Given the description of an element on the screen output the (x, y) to click on. 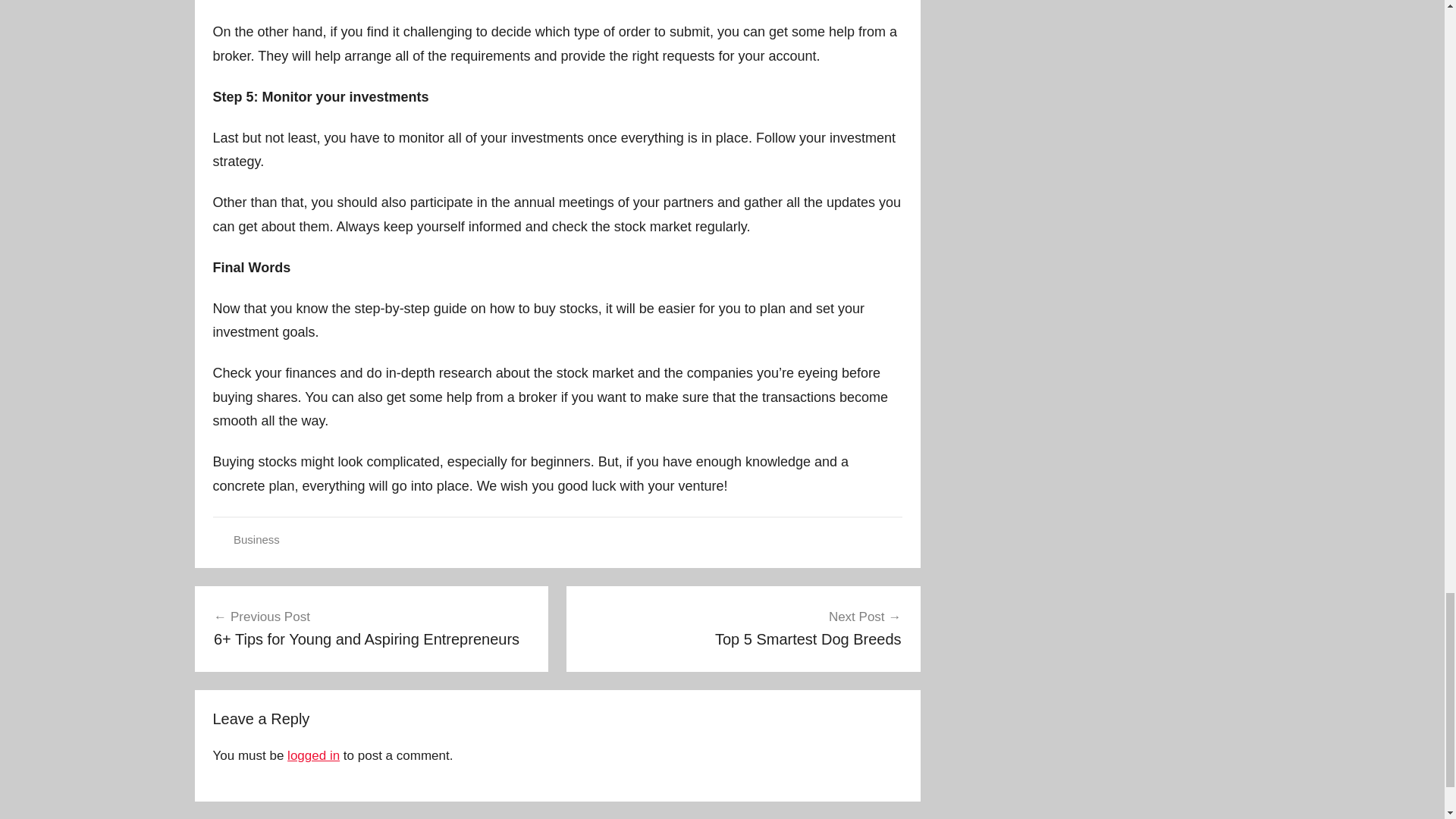
logged in (743, 628)
Business (312, 755)
